Given the description of an element on the screen output the (x, y) to click on. 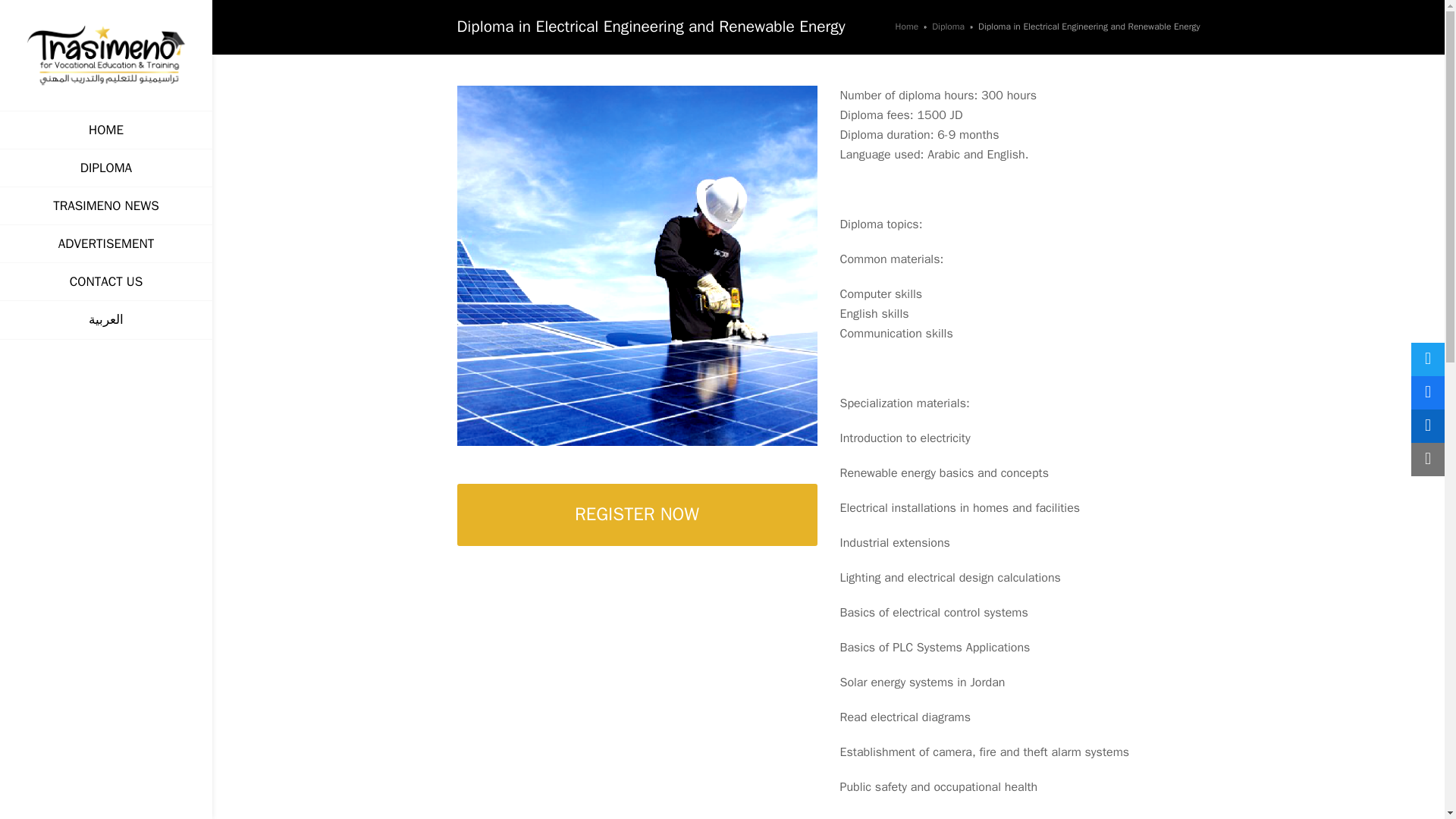
REGISTER NOW (636, 515)
ADVERTISEMENT (106, 243)
TRASIMENO NEWS (106, 205)
DIPLOMA (106, 167)
Diploma (947, 26)
CONTACT US (106, 281)
HOME (106, 129)
Home (906, 26)
